Given the description of an element on the screen output the (x, y) to click on. 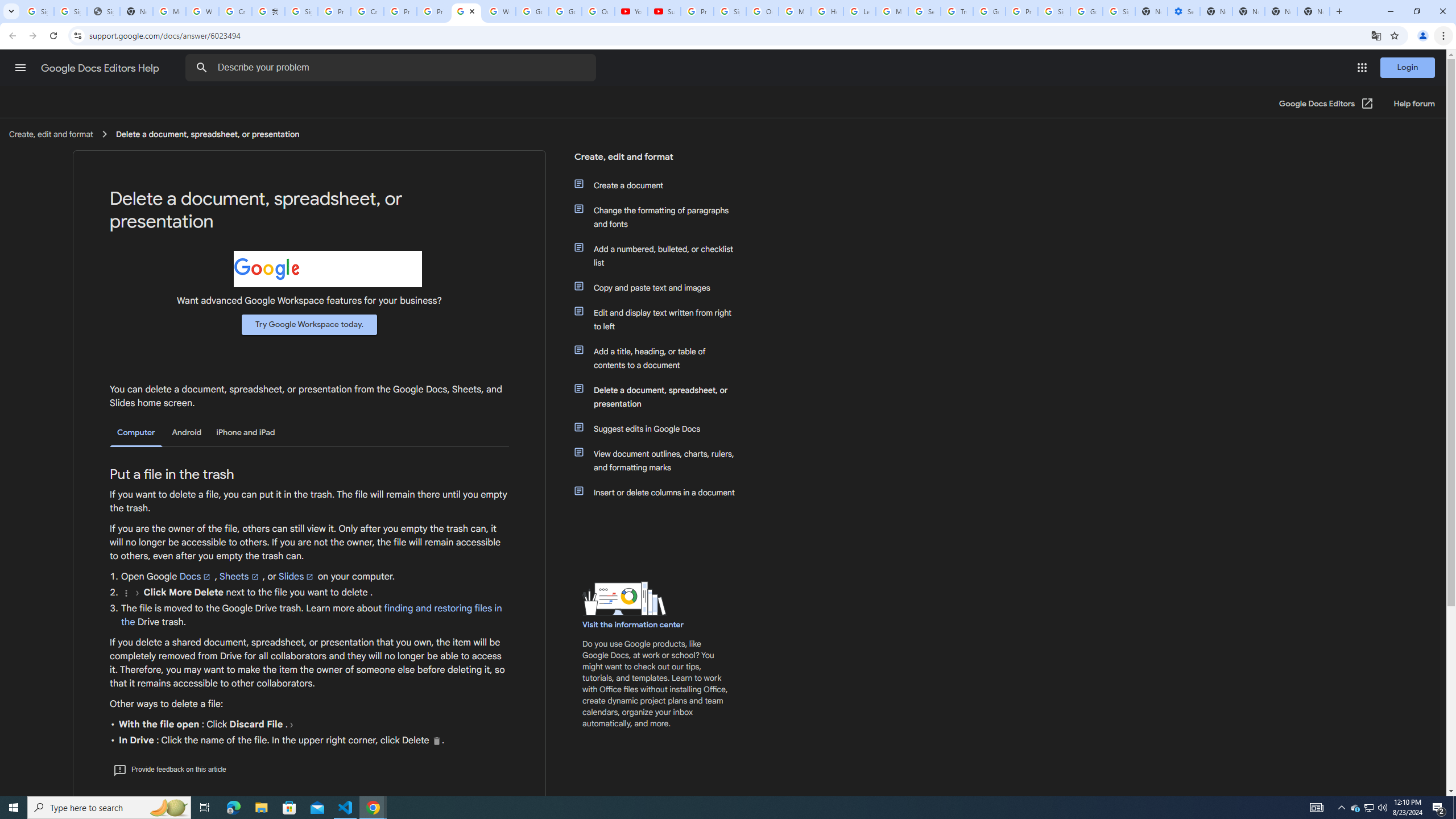
Insert or delete columns in a document (661, 492)
Create your Google Account (235, 11)
Try Google Workspace today. (309, 324)
Docs (195, 576)
View document outlines, charts, rulers, and formatting marks (661, 460)
Trusted Information and Content - Google Safety Center (957, 11)
Google Docs Editors (Opens in new window) (1326, 103)
Sign in - Google Accounts (730, 11)
